Given the description of an element on the screen output the (x, y) to click on. 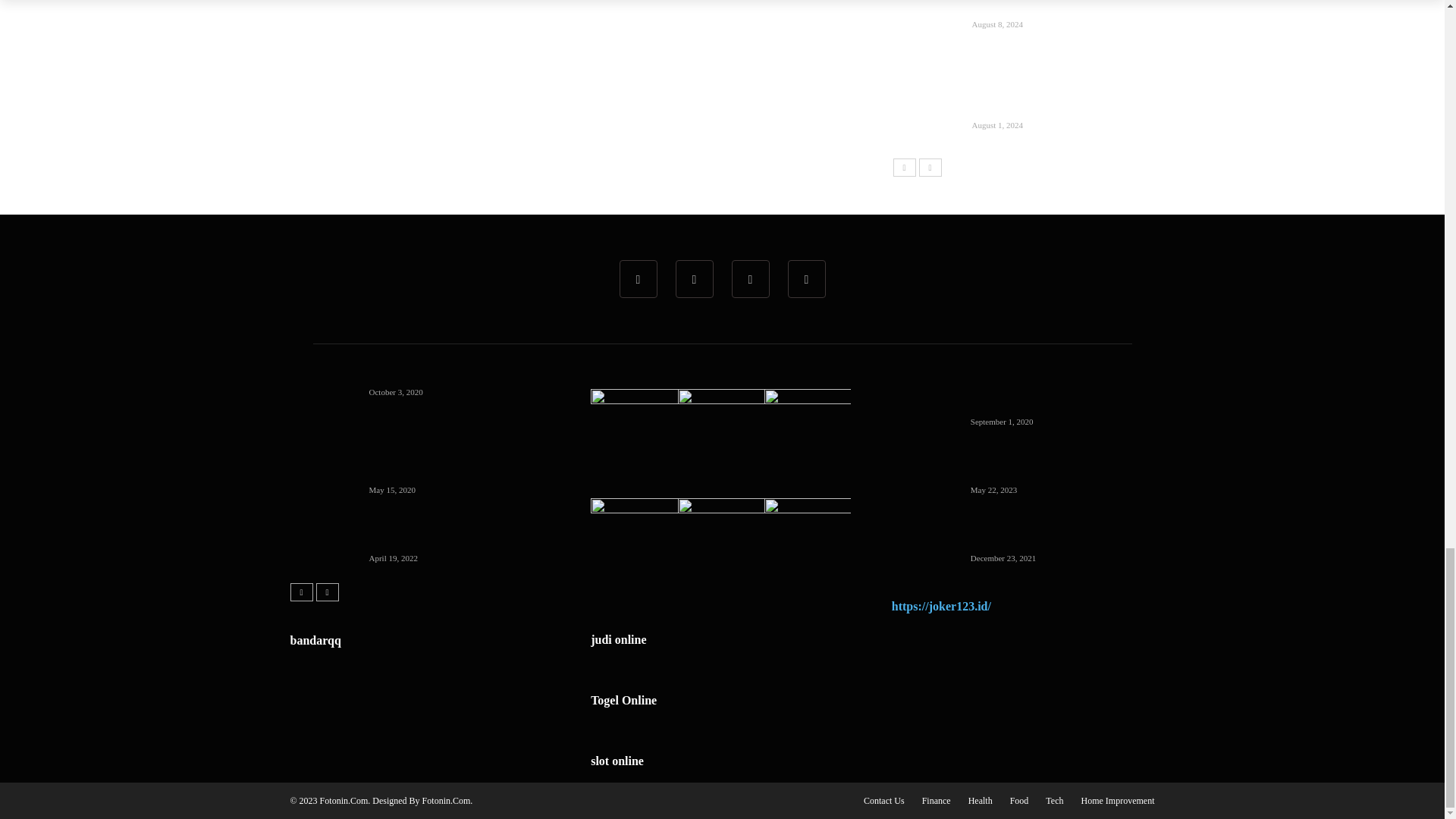
Next (326, 592)
Previous (301, 592)
Previous (904, 167)
Next (930, 167)
